Given the description of an element on the screen output the (x, y) to click on. 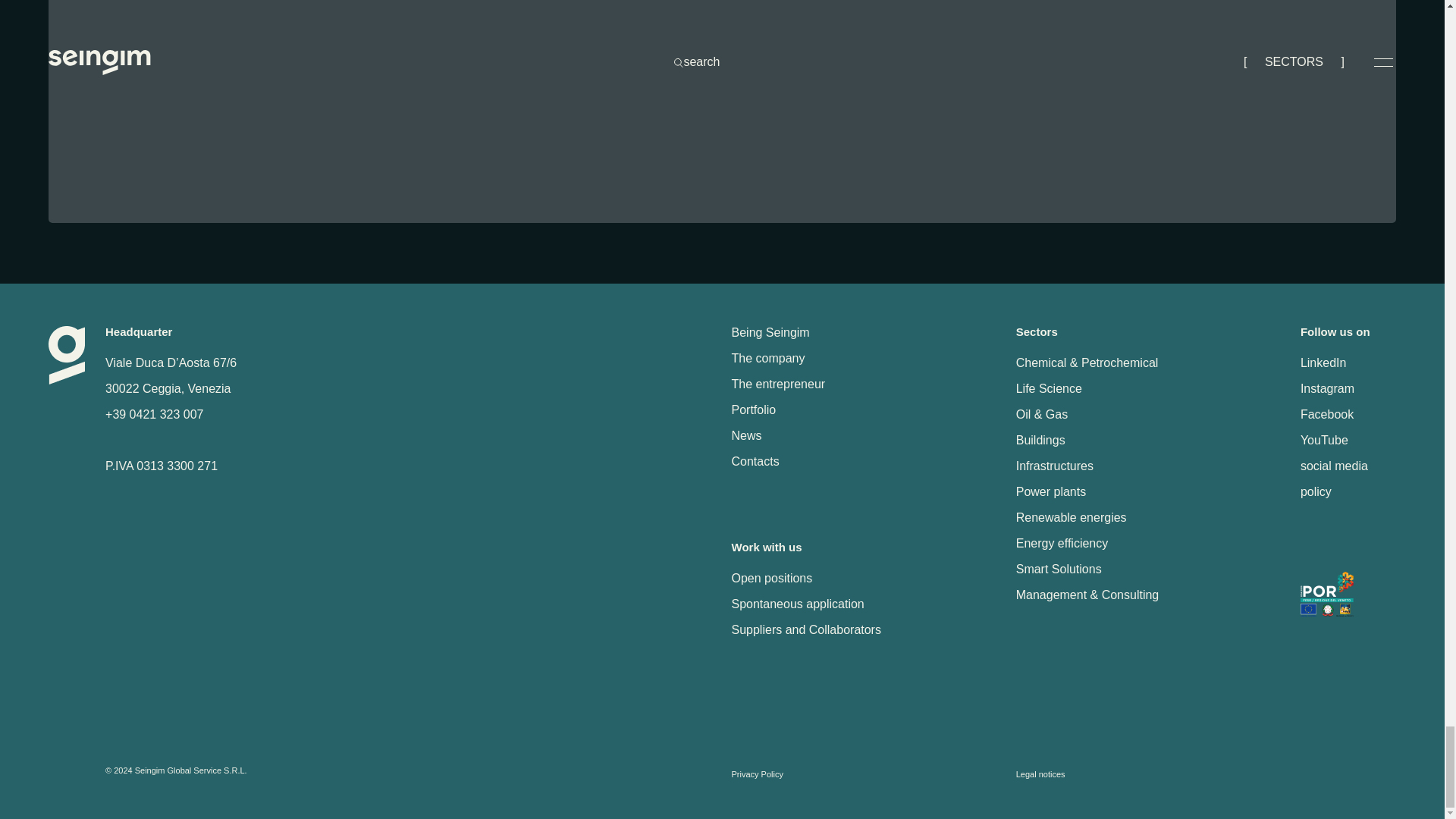
Spontaneous application (863, 604)
Open positions (863, 578)
